Given the description of an element on the screen output the (x, y) to click on. 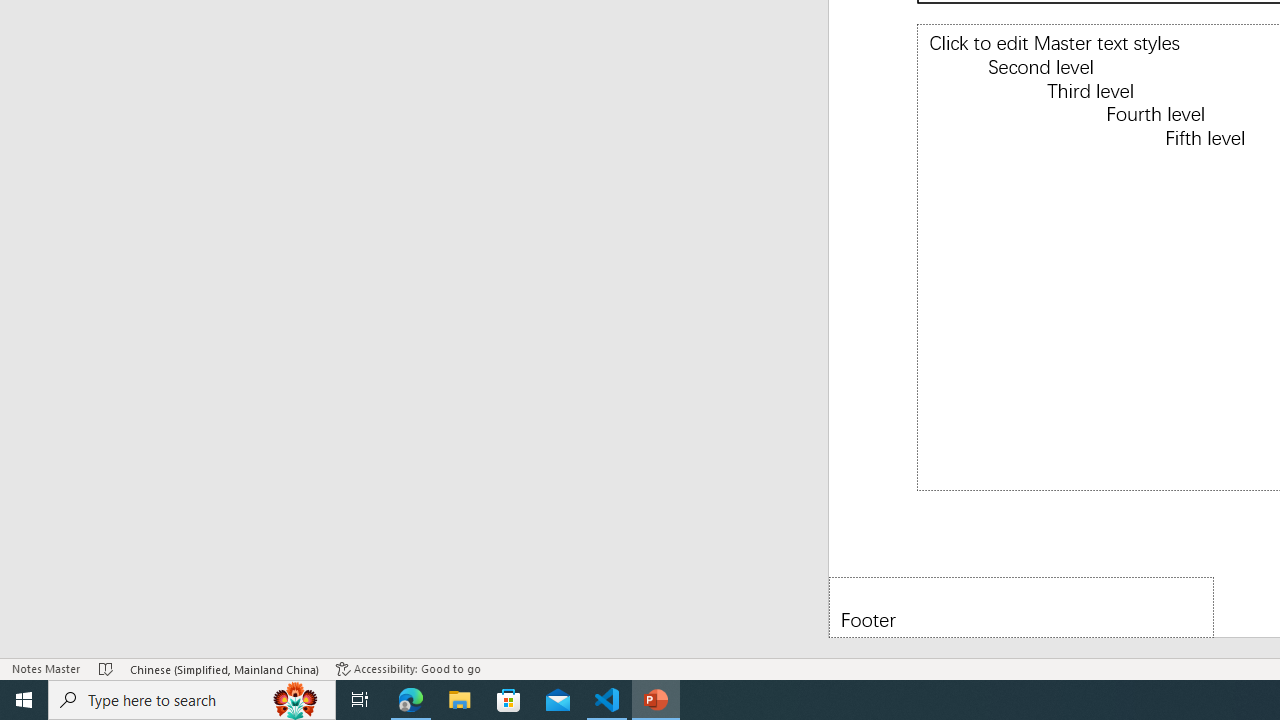
Footer (1021, 606)
